Given the description of an element on the screen output the (x, y) to click on. 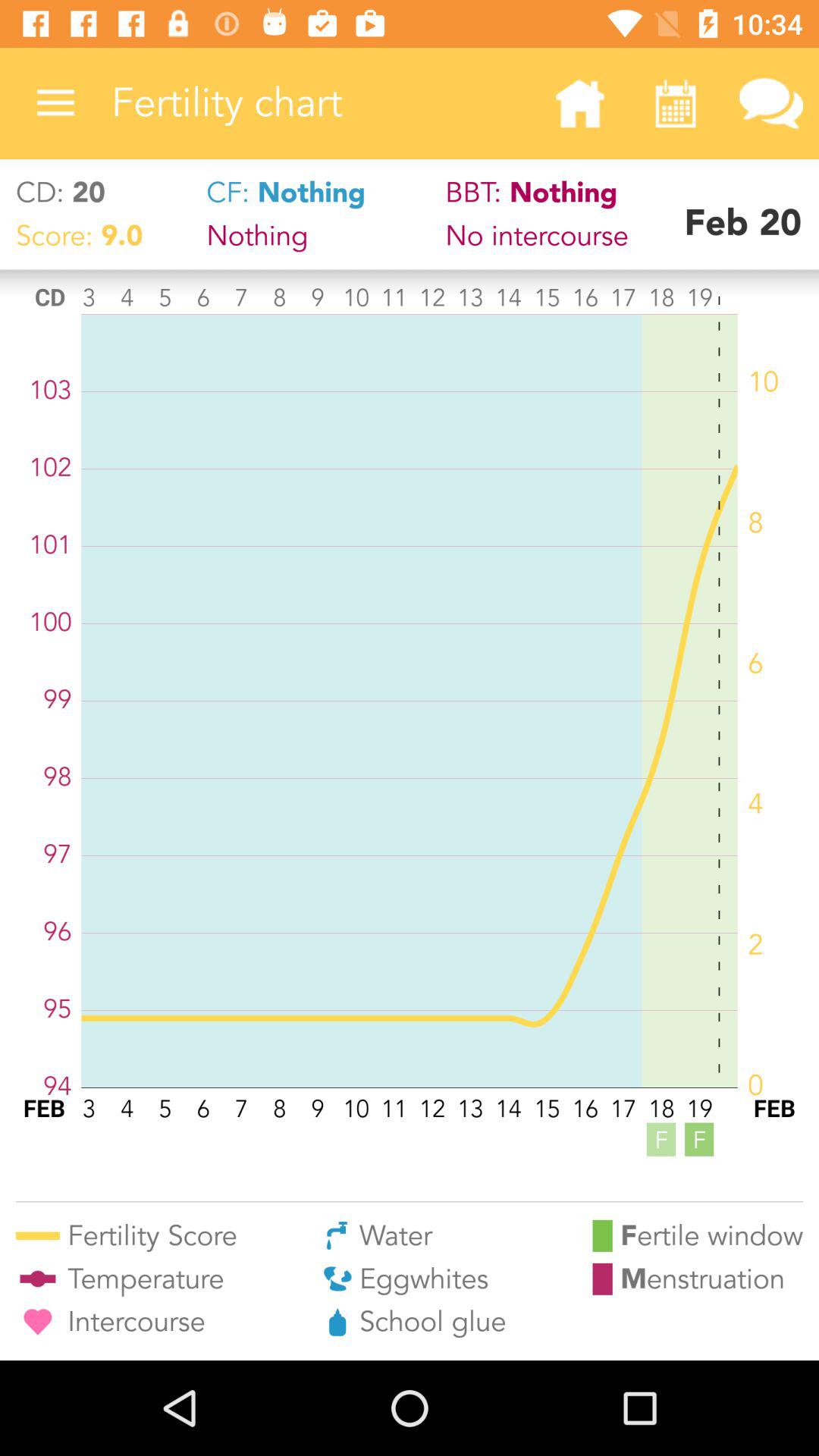
tap the icon next to fertility chart (579, 103)
